Given the description of an element on the screen output the (x, y) to click on. 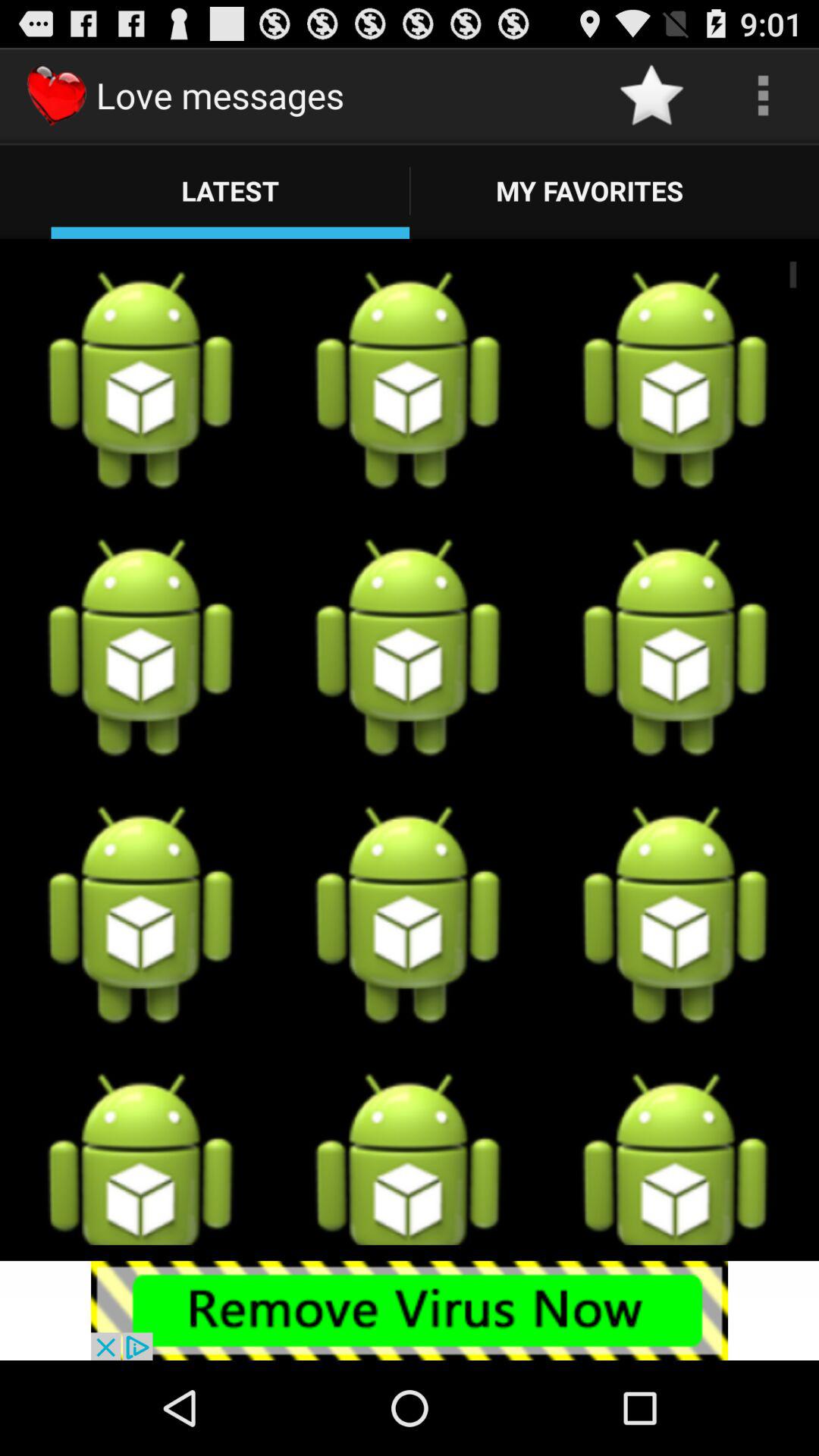
see the options (763, 95)
